Given the description of an element on the screen output the (x, y) to click on. 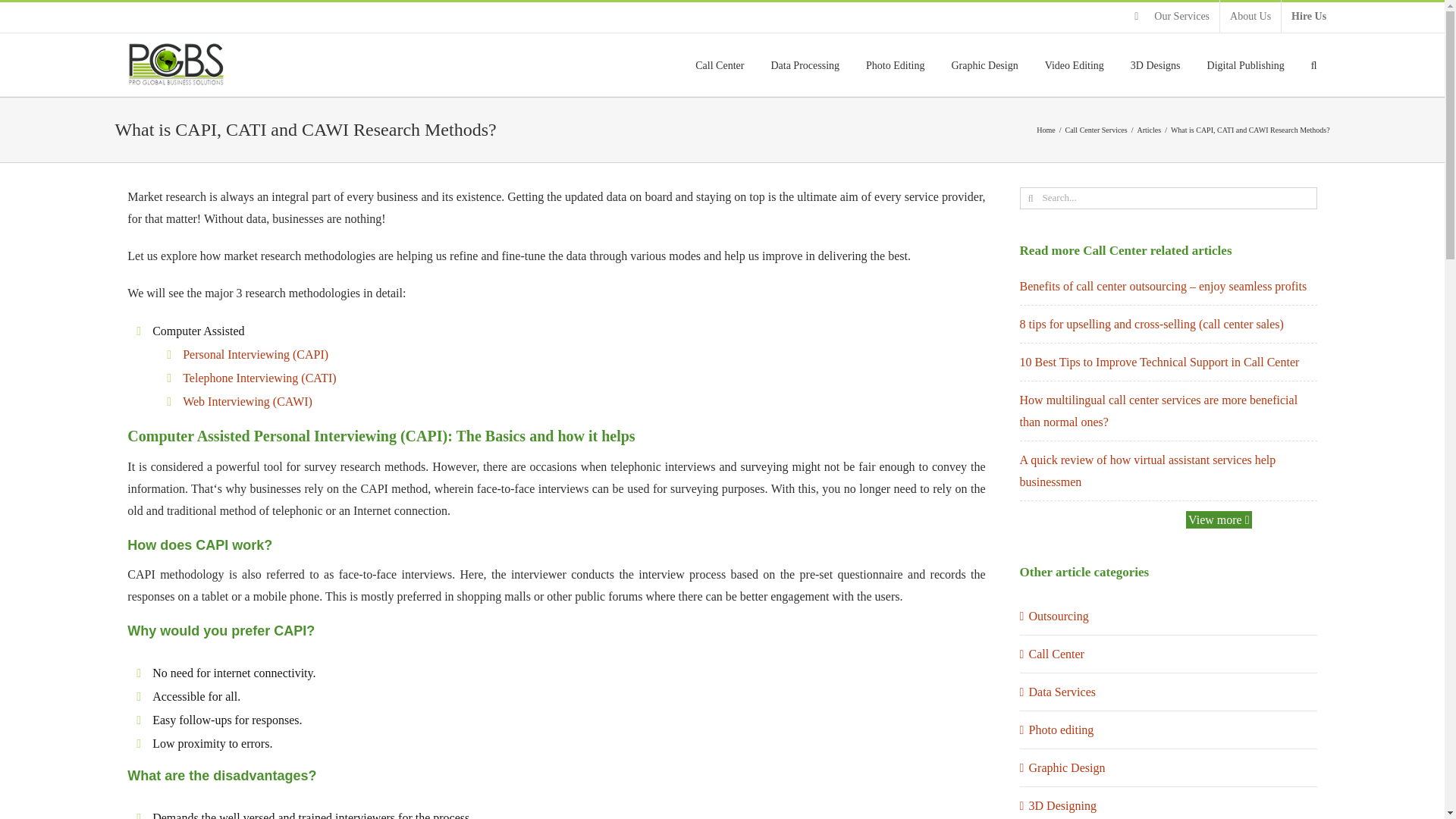
Our Services (1172, 16)
Data Processing (805, 64)
About Us (1250, 16)
Hire Us (1308, 16)
Photo Editing (895, 64)
